Given the description of an element on the screen output the (x, y) to click on. 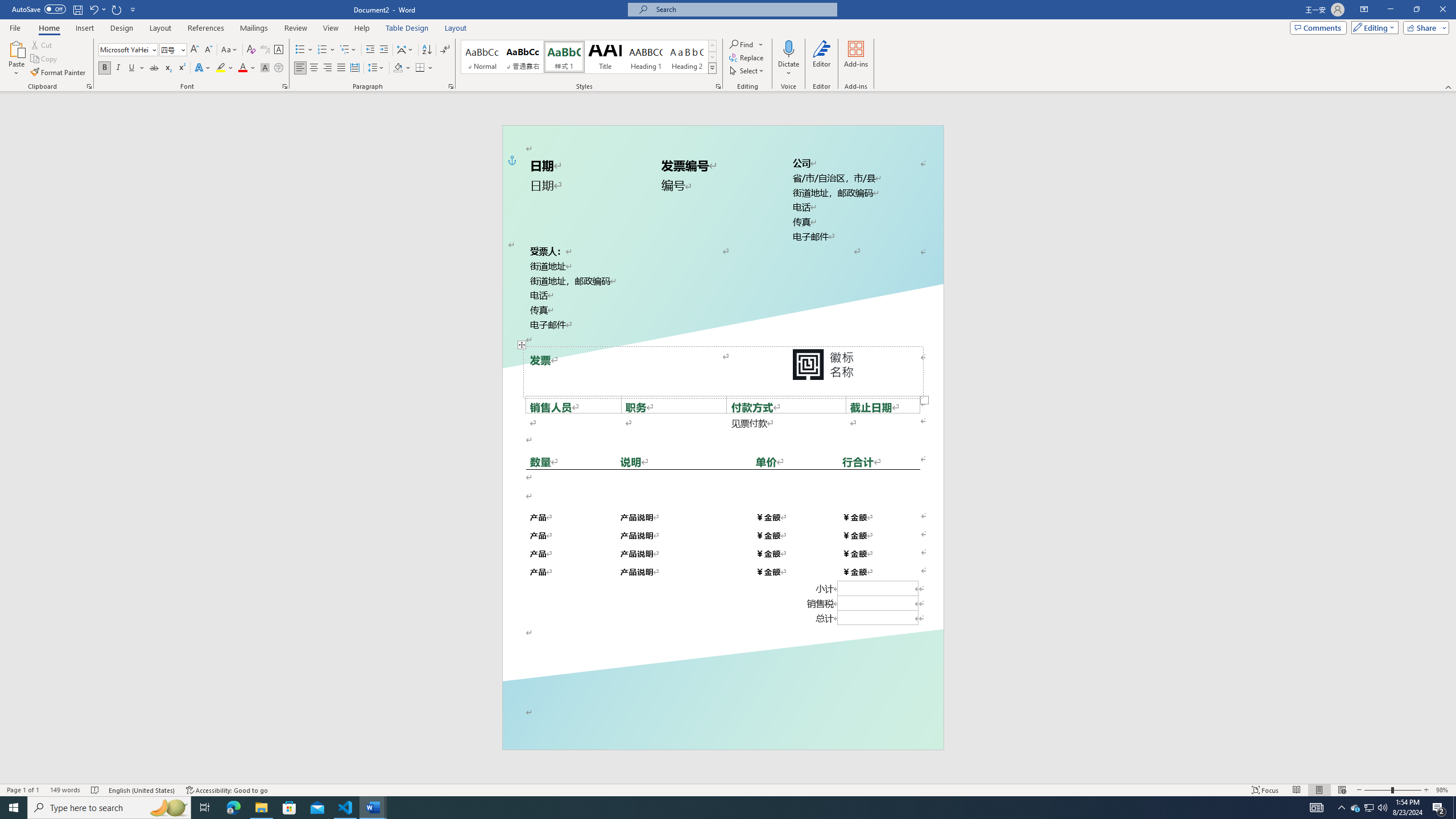
Repeat Style (117, 9)
Zoom 98% (1443, 790)
